Given the description of an element on the screen output the (x, y) to click on. 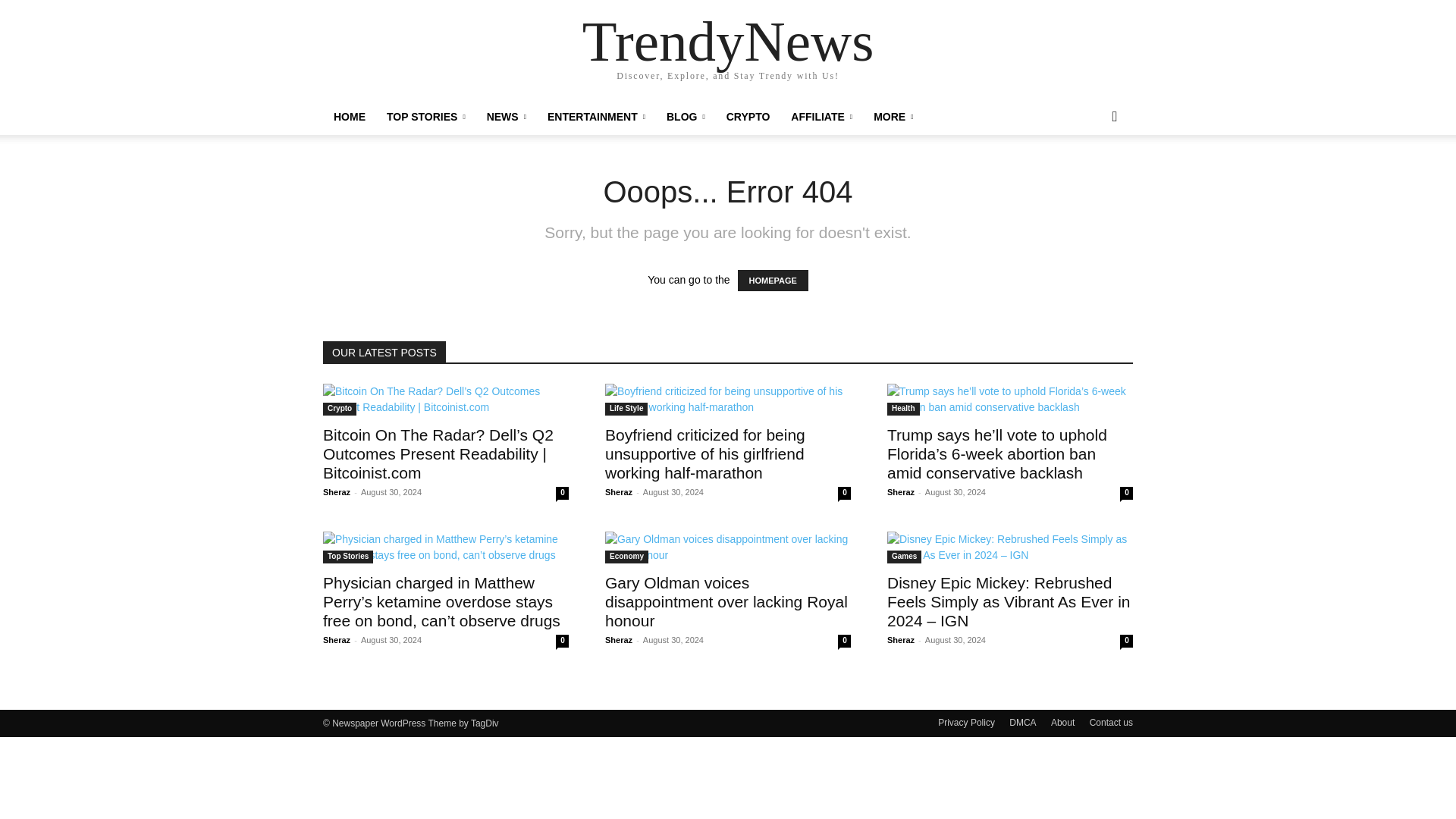
ENTERTAINMENT (596, 116)
TOP STORIES (425, 116)
Gary Oldman voices disappointment over lacking Royal honour (727, 547)
NEWS (506, 116)
Gary Oldman voices disappointment over lacking Royal honour (726, 601)
TrendyNews (728, 41)
HOME (349, 116)
